Given the description of an element on the screen output the (x, y) to click on. 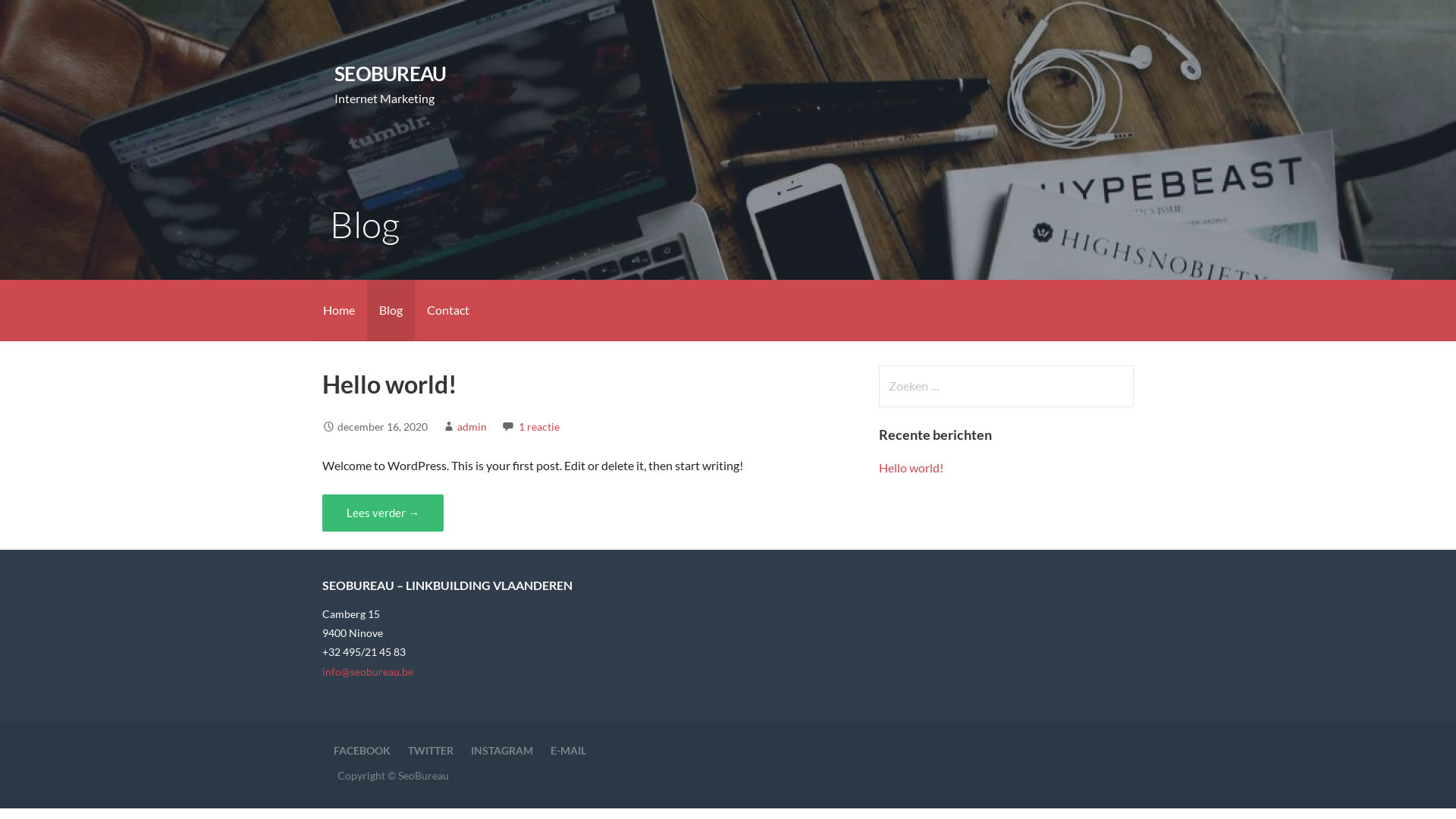
E-MAIL Element type: text (568, 749)
TWITTER Element type: text (430, 749)
INSTAGRAM Element type: text (501, 749)
Contact Element type: text (447, 310)
Zoeken Element type: text (42, 18)
info@seobureau.be Element type: text (367, 671)
FACEBOOK Element type: text (361, 749)
1 reactie Element type: text (538, 426)
Blog Element type: text (390, 310)
Hello world! Element type: text (389, 383)
SEOBUREAU Element type: text (389, 73)
admin Element type: text (471, 426)
Home Element type: text (338, 310)
Hello world! Element type: text (910, 467)
